Given the description of an element on the screen output the (x, y) to click on. 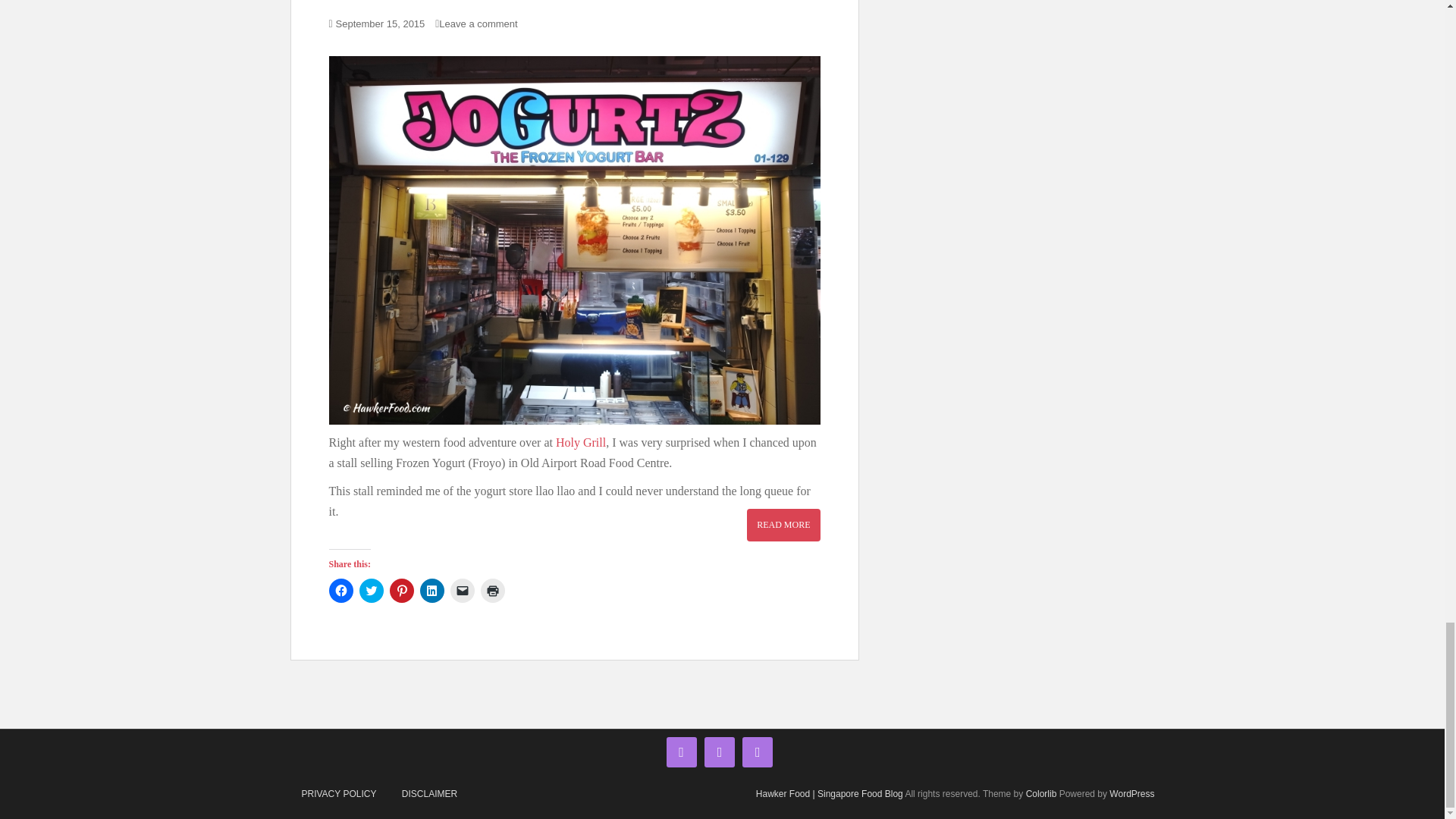
Holy Grill (580, 441)
September 15, 2015 (380, 23)
Leave a comment (481, 23)
READ MORE (782, 524)
